Given the description of an element on the screen output the (x, y) to click on. 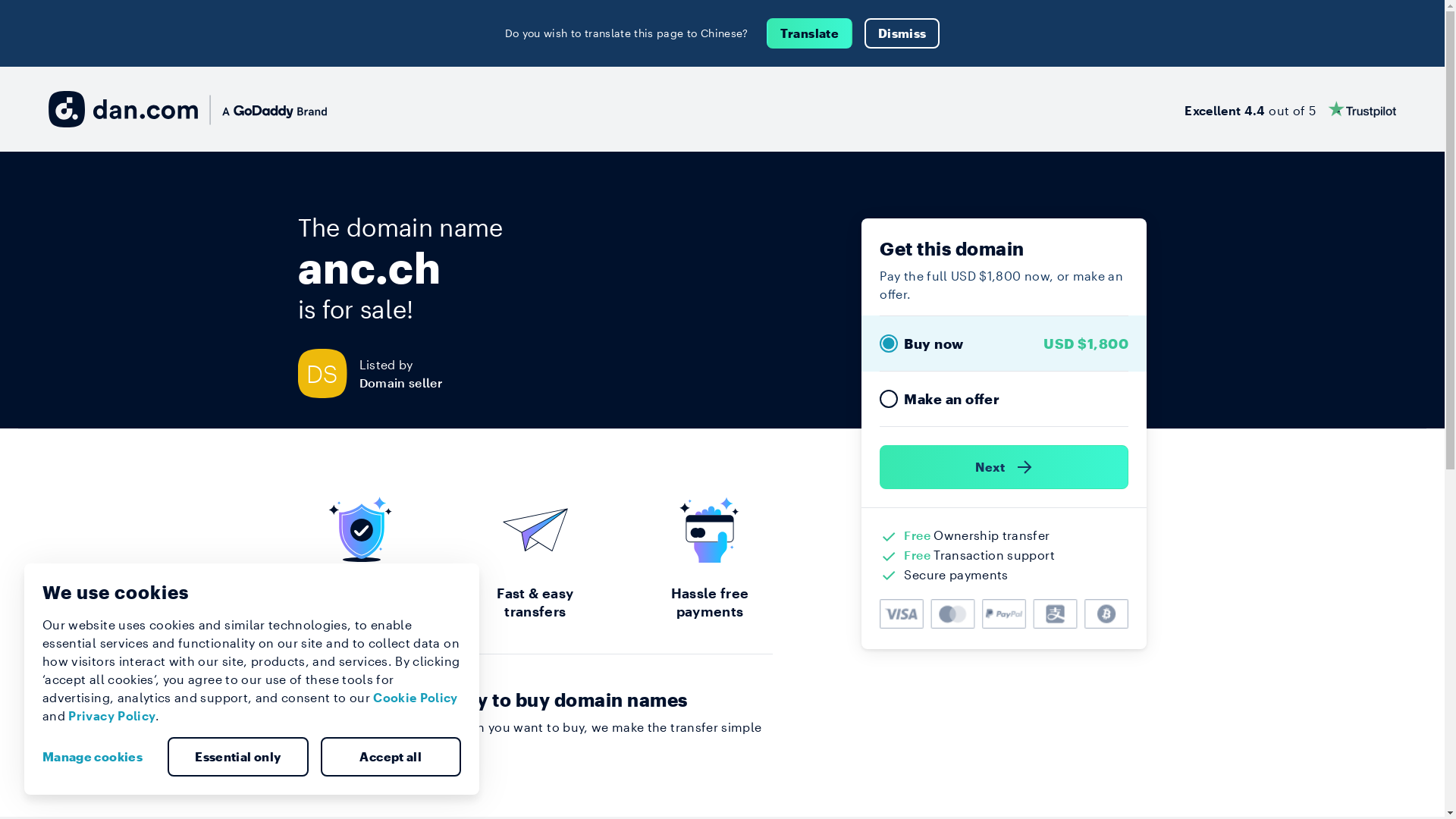
Manage cookies Element type: text (98, 756)
Privacy Policy Element type: text (111, 715)
Next
) Element type: text (1003, 467)
Dismiss Element type: text (901, 33)
Essential only Element type: text (237, 756)
Translate Element type: text (809, 33)
Excellent 4.4 out of 5 Element type: text (1290, 109)
Cookie Policy Element type: text (415, 697)
Accept all Element type: text (390, 756)
